Given the description of an element on the screen output the (x, y) to click on. 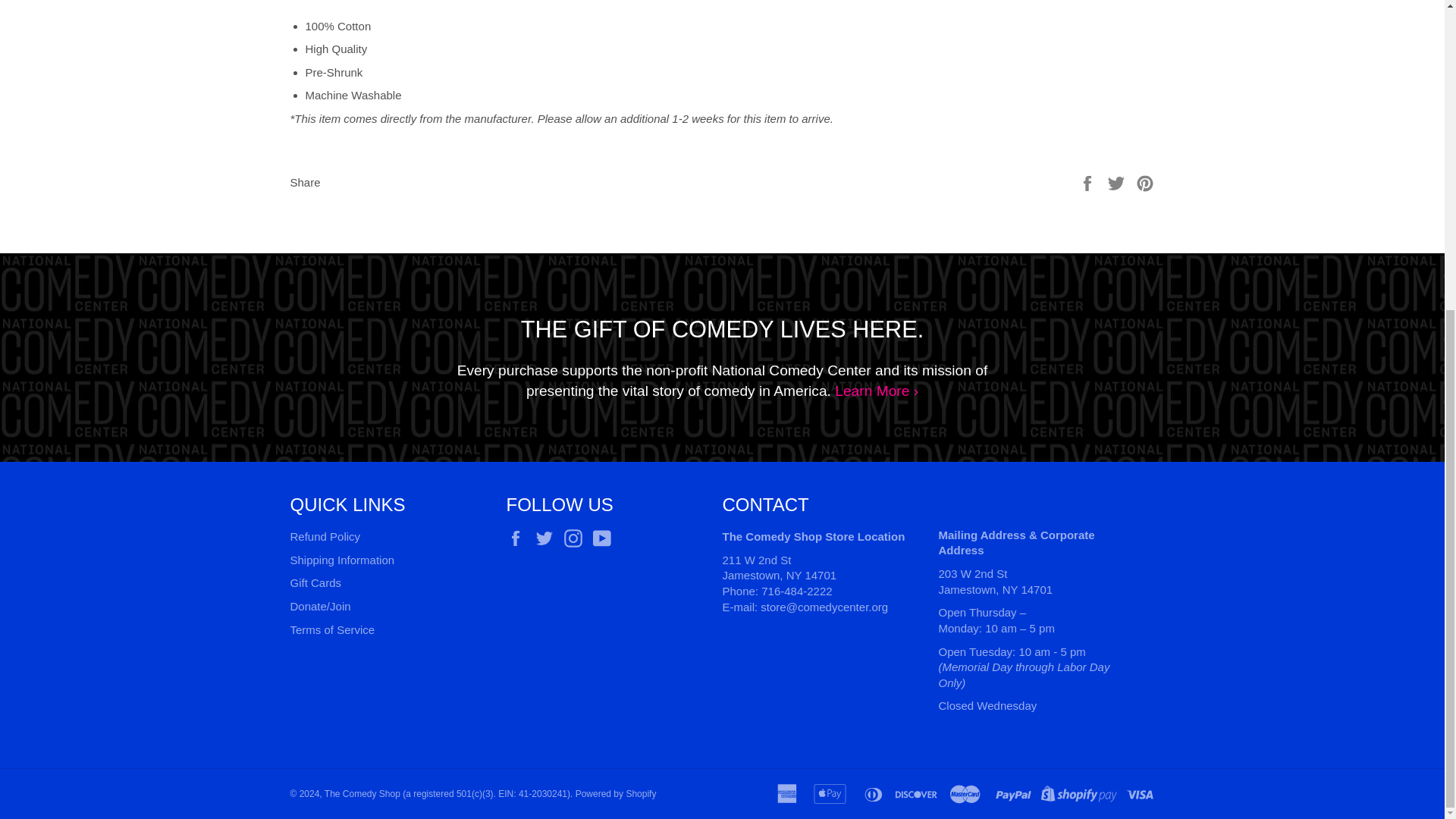
The Comedy Shop on Twitter (547, 538)
Pin on Pinterest (1144, 182)
Share on Facebook (1088, 182)
The Comedy Shop on Instagram (576, 538)
Tweet on Twitter (1117, 182)
The Comedy Shop on Facebook (519, 538)
The Comedy Shop on YouTube (605, 538)
